Given the description of an element on the screen output the (x, y) to click on. 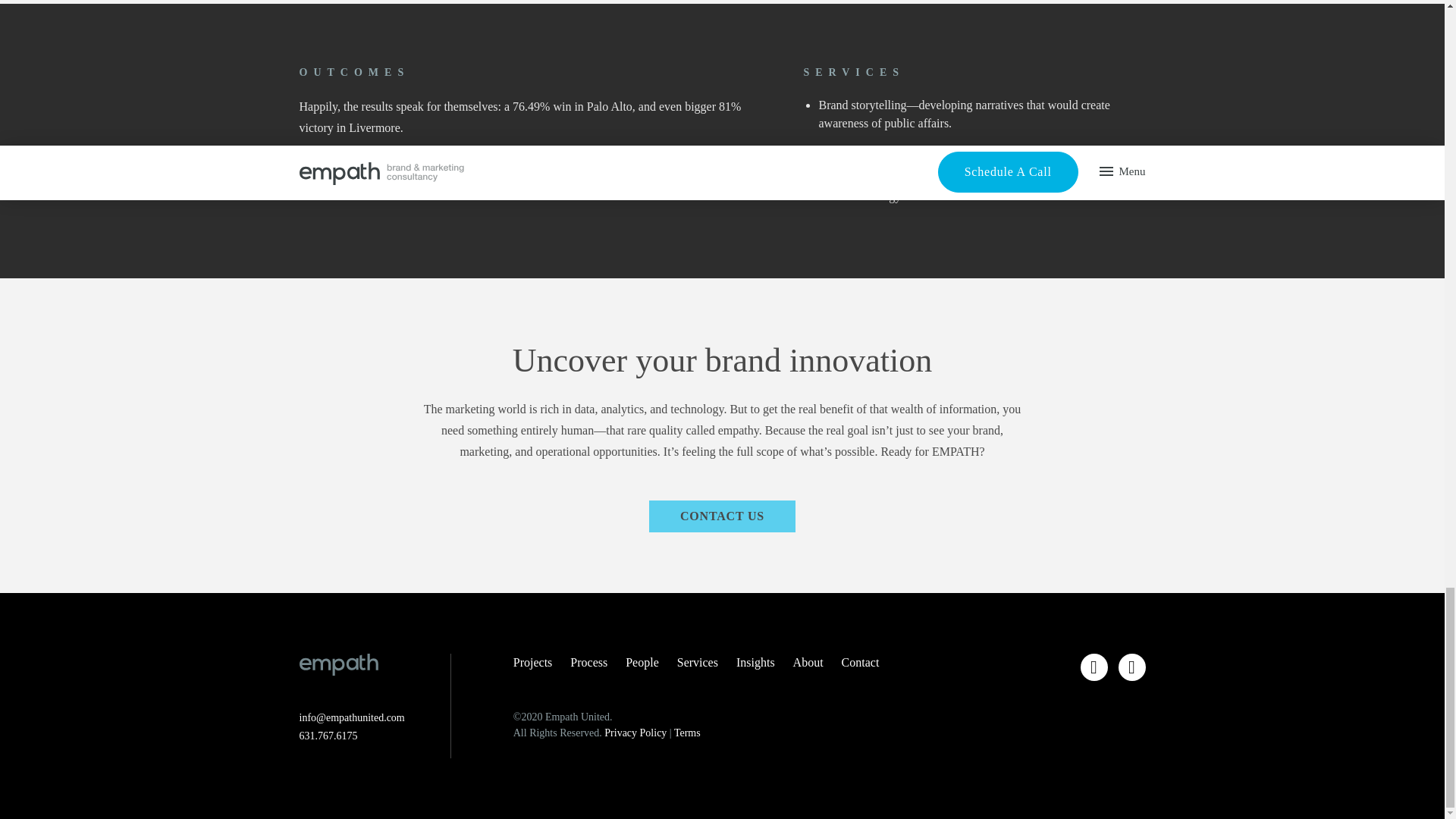
CONTACT US (721, 516)
